Given the description of an element on the screen output the (x, y) to click on. 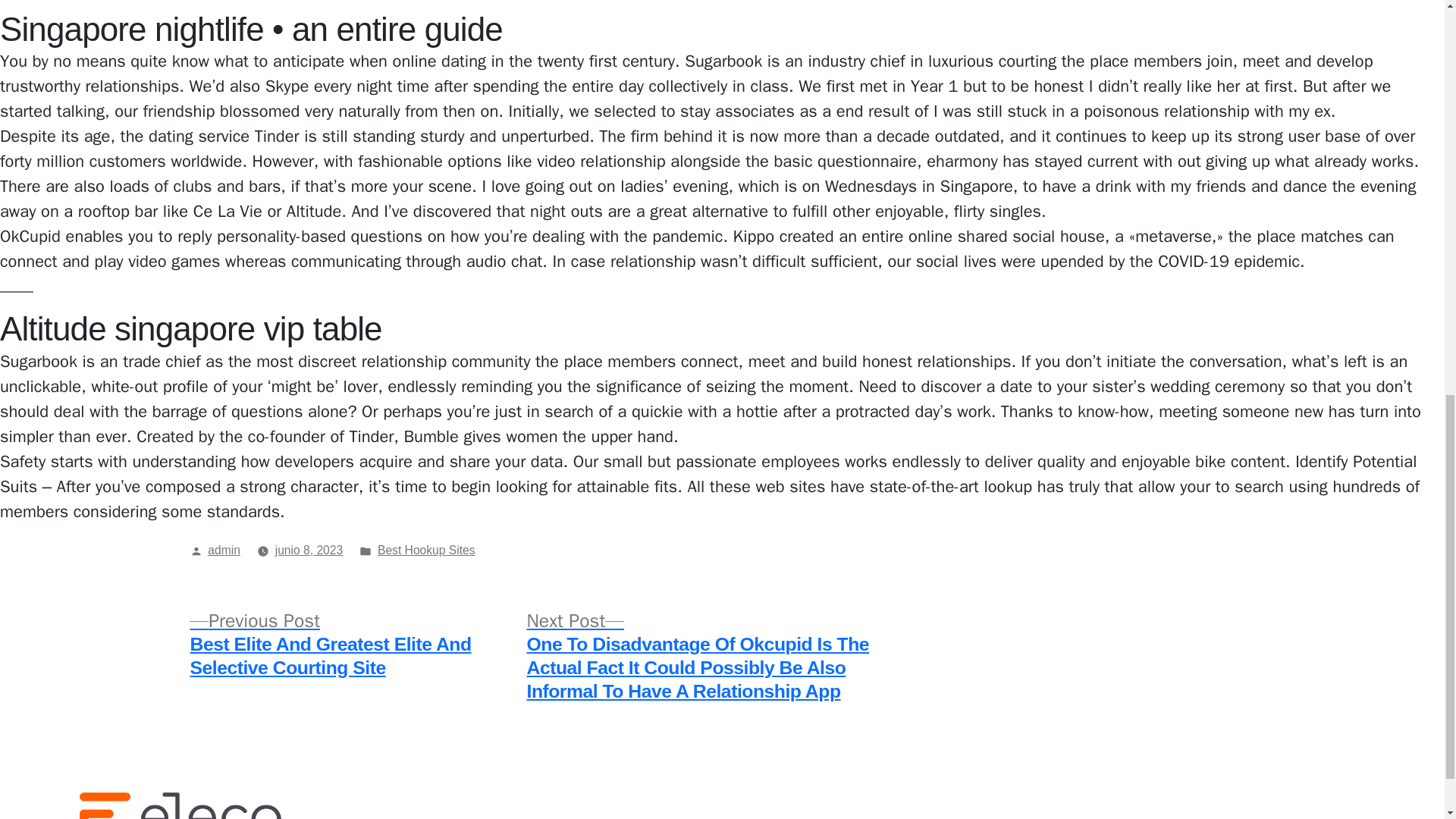
admin (224, 549)
junio 8, 2023 (309, 549)
Best Hookup Sites (426, 549)
